Given the description of an element on the screen output the (x, y) to click on. 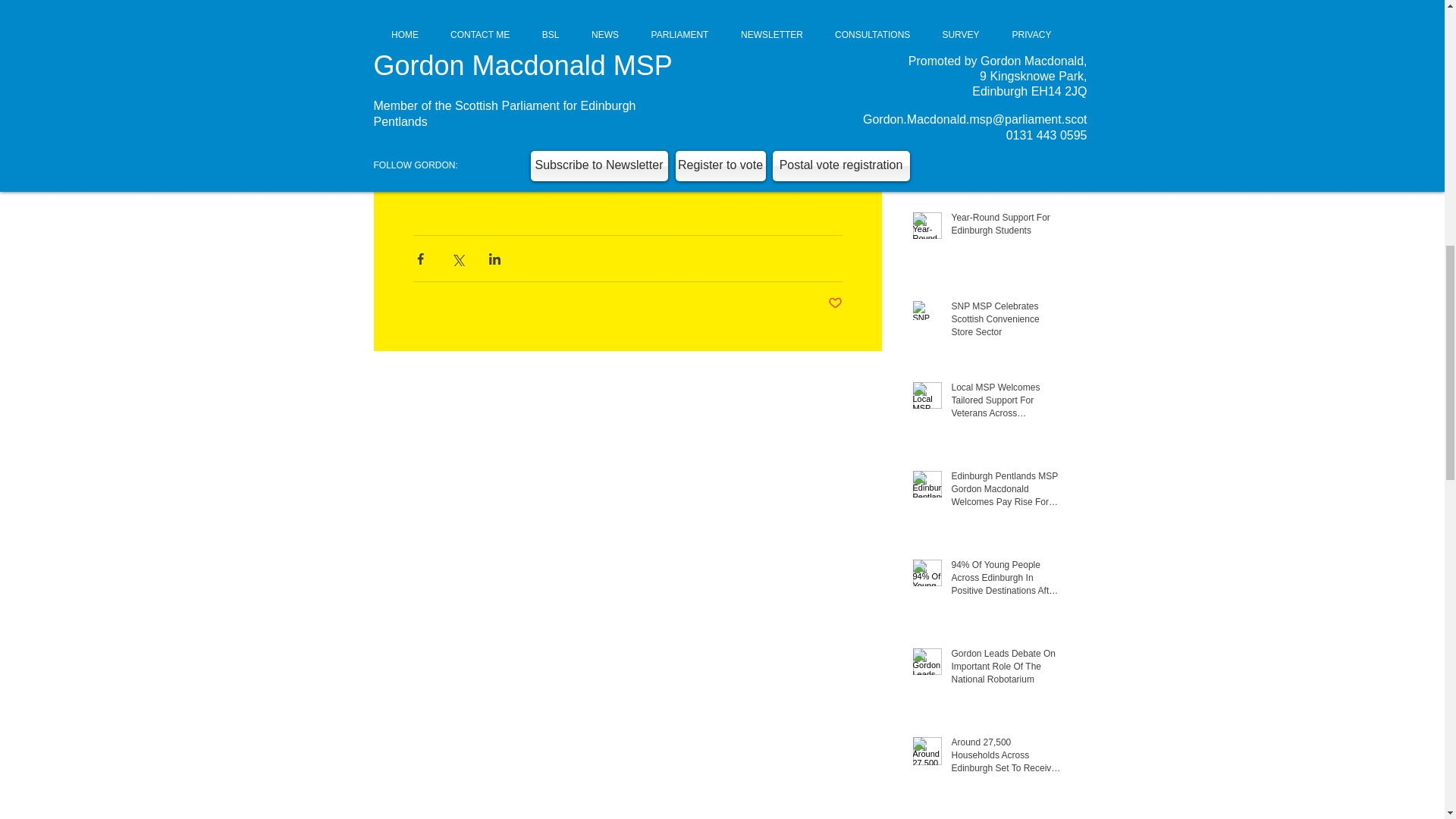
Year-Round Support For Edinburgh Students (1004, 227)
SNP MSP Celebrates Scottish Convenience Store Sector (1004, 321)
Post not marked as liked (835, 303)
